Given the description of an element on the screen output the (x, y) to click on. 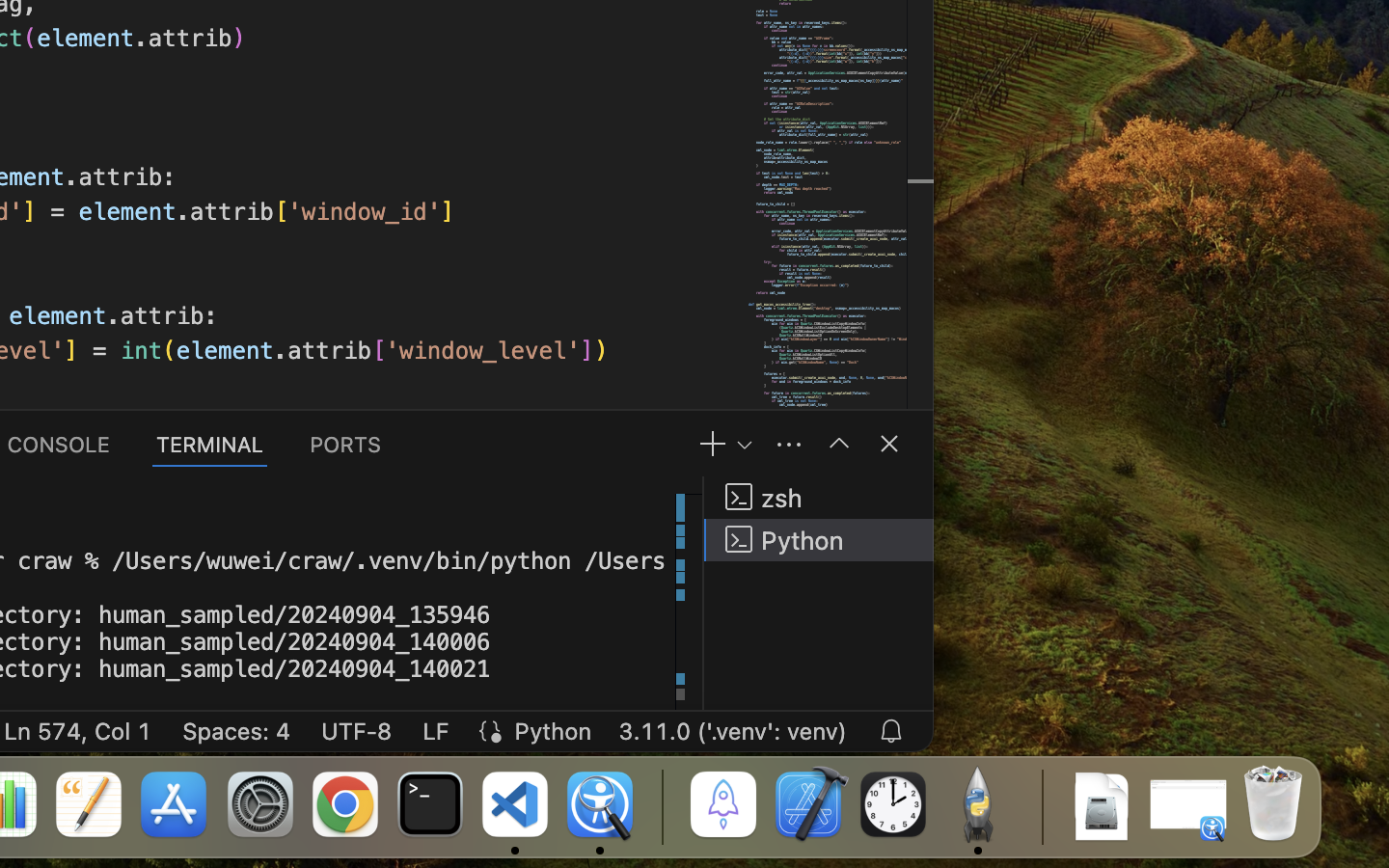
 Element type: AXButton (889, 443)
zsh  Element type: AXGroup (818, 497)
1 TERMINAL Element type: AXRadioButton (210, 443)
0.4285714328289032 Element type: AXDockItem (660, 805)
Python  Element type: AXGroup (818, 539)
